Given the description of an element on the screen output the (x, y) to click on. 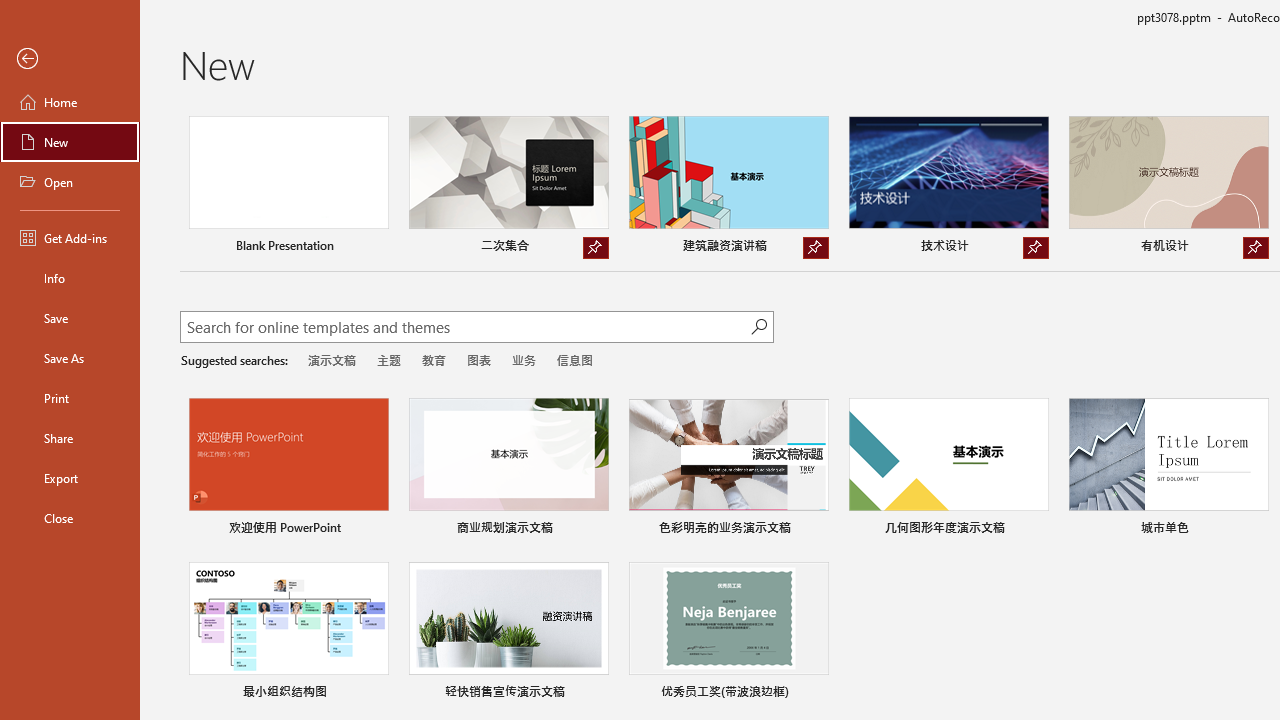
Unpin from list (1255, 247)
Pin to list (815, 693)
Back (69, 59)
Export (69, 477)
Save As (69, 357)
